Given the description of an element on the screen output the (x, y) to click on. 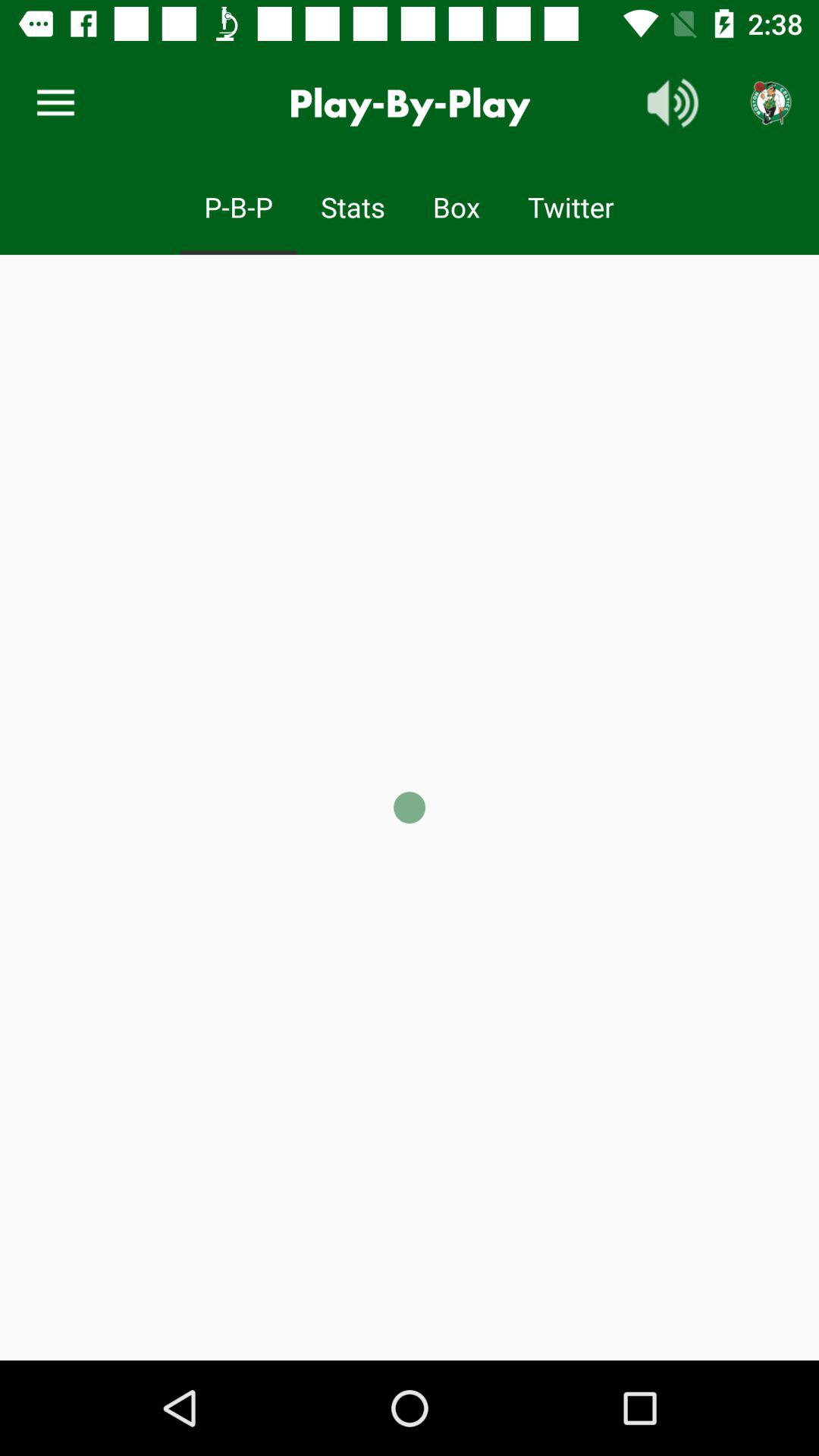
click the item next to the play-by-play (673, 103)
